Given the description of an element on the screen output the (x, y) to click on. 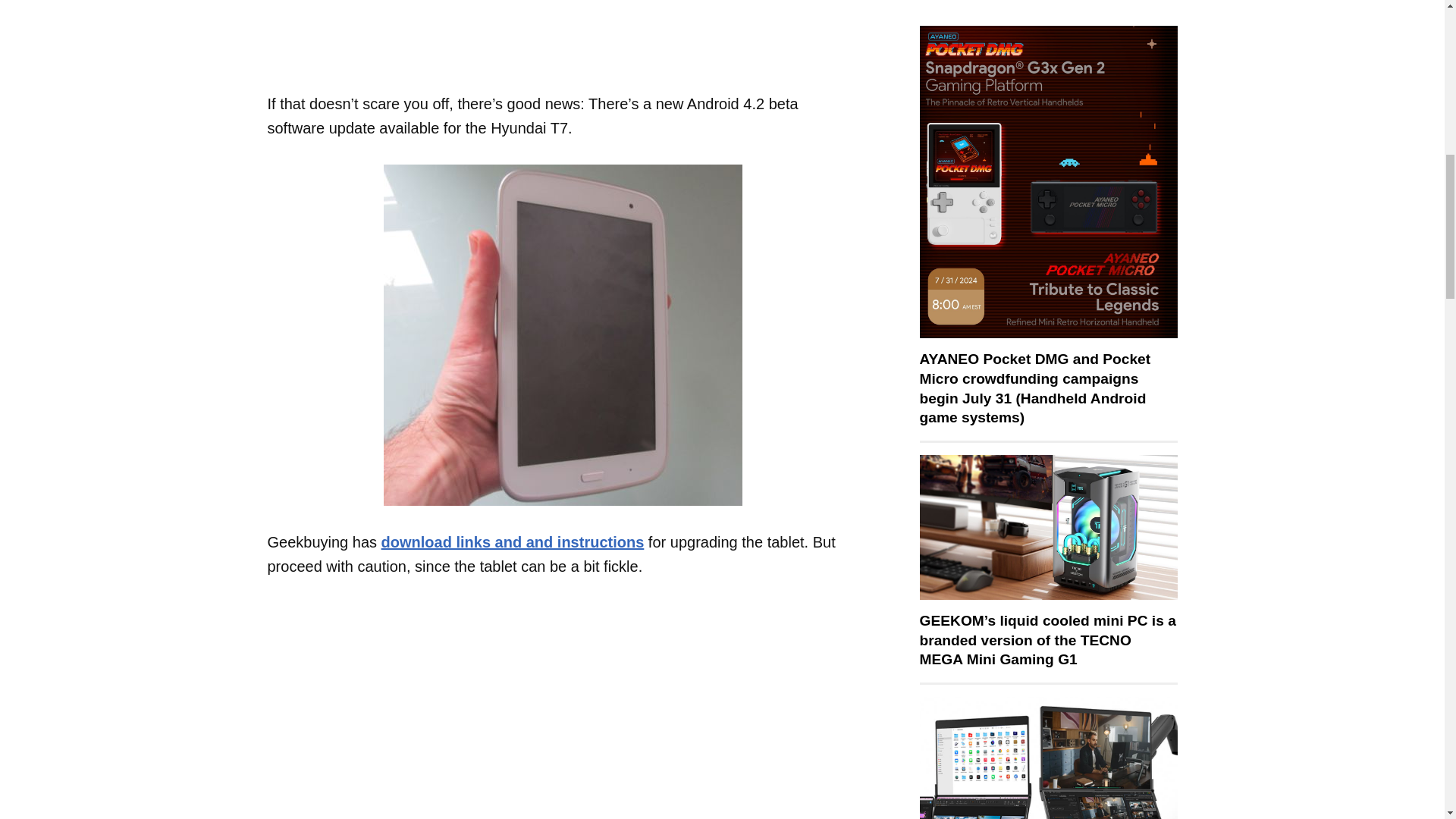
Hyundai T7 (563, 335)
